Given the description of an element on the screen output the (x, y) to click on. 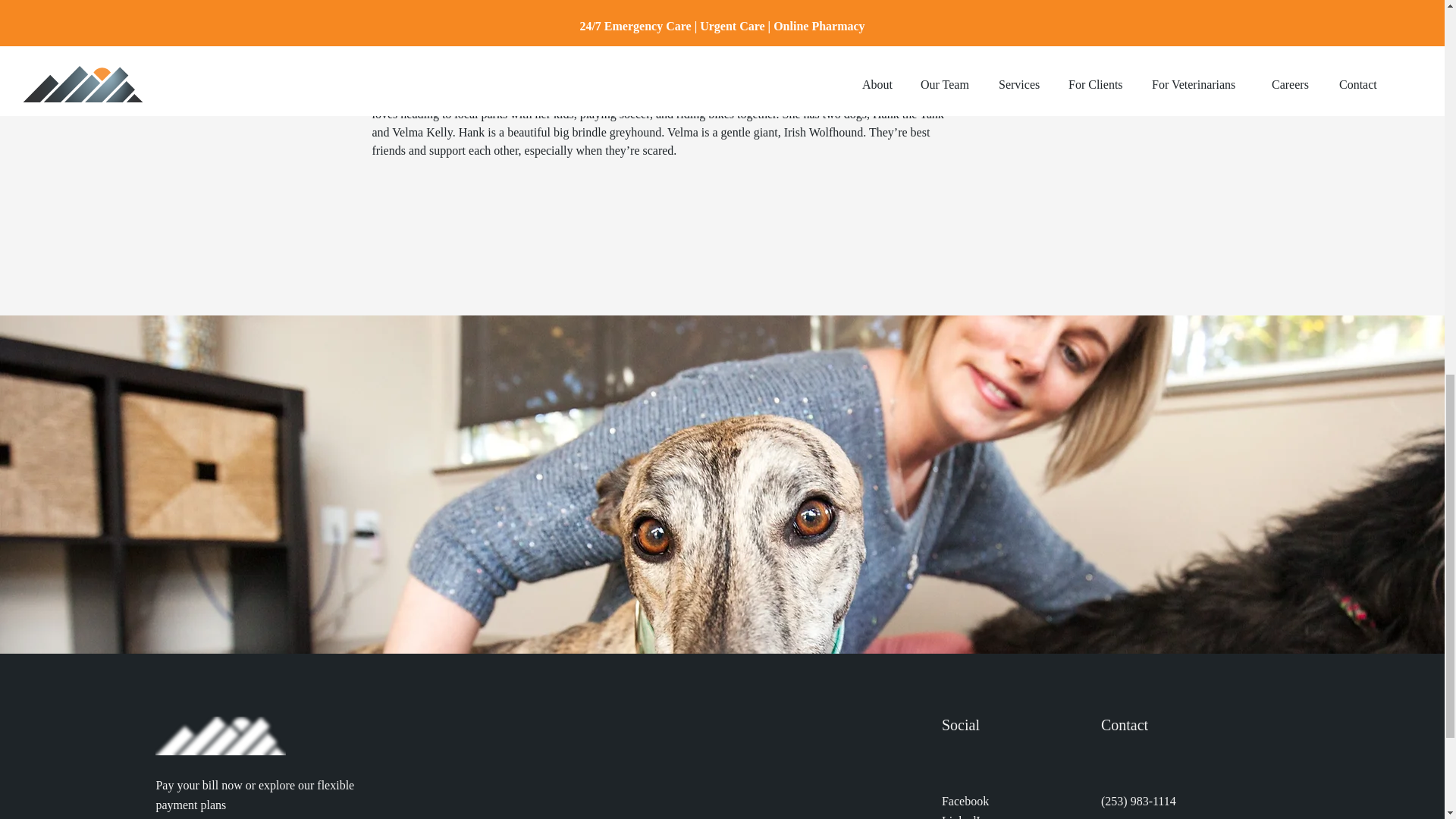
LinkedIn (964, 816)
Facebook (965, 800)
